Given the description of an element on the screen output the (x, y) to click on. 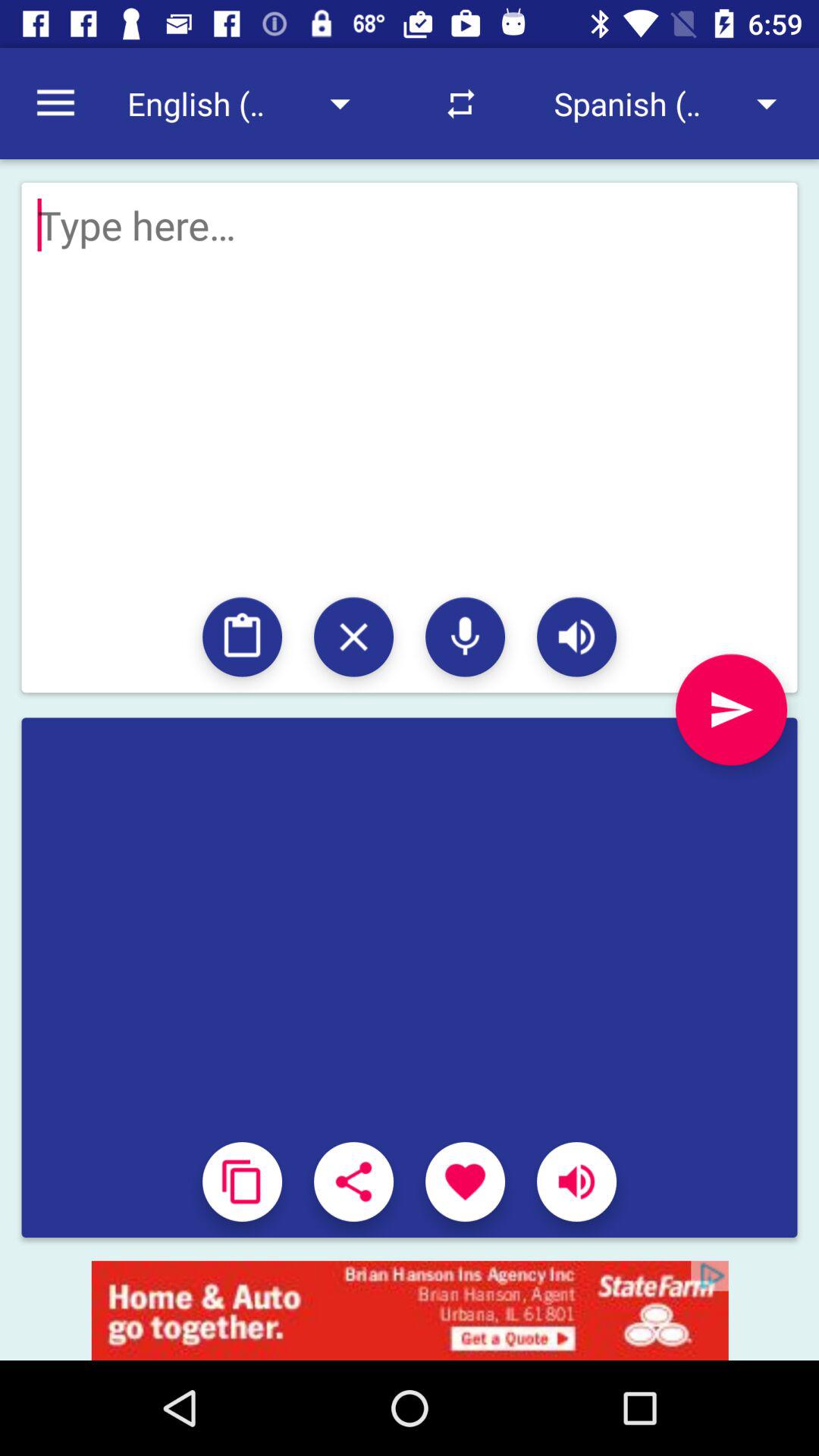
shows exit option (353, 636)
